Given the description of an element on the screen output the (x, y) to click on. 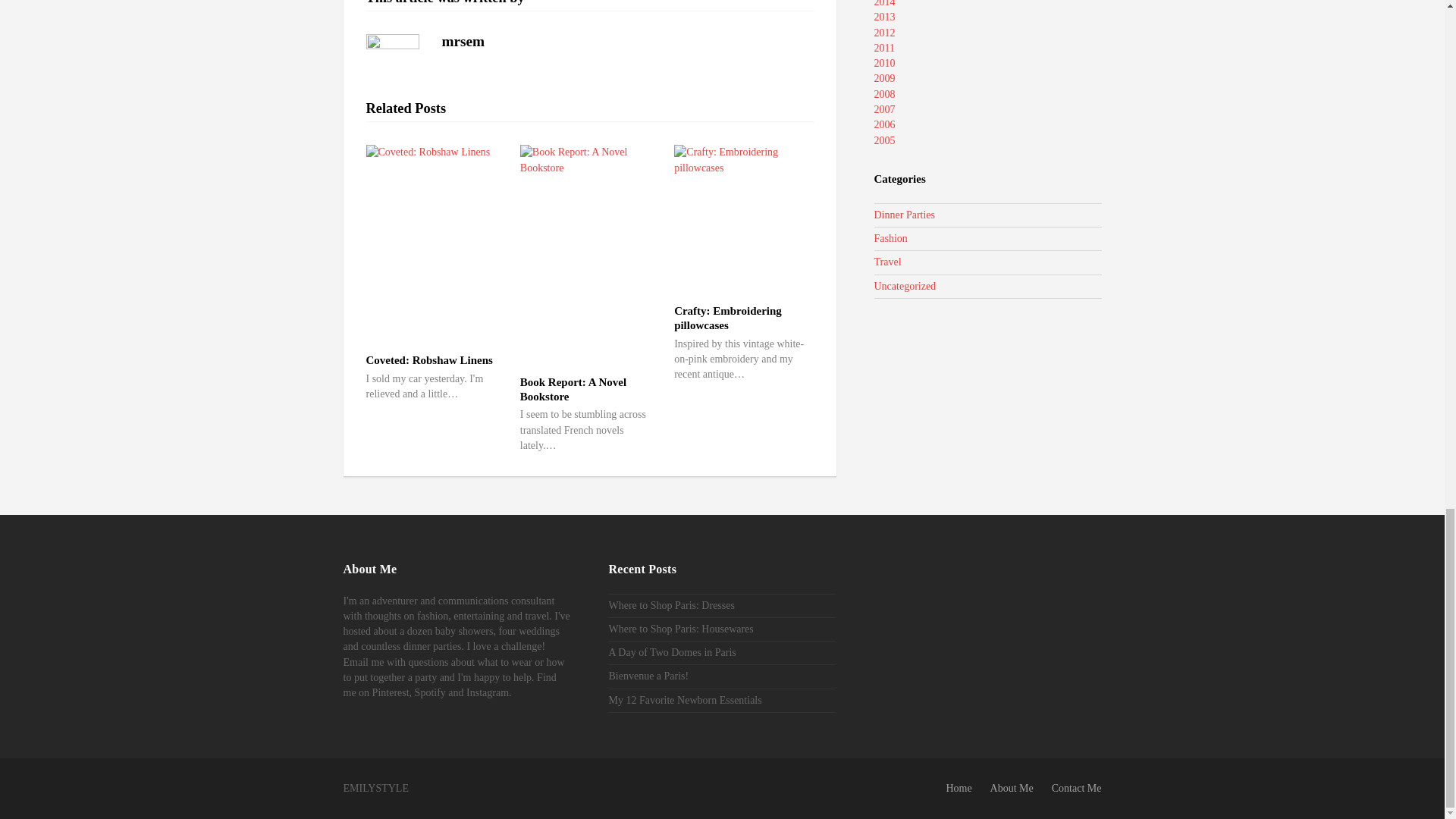
Book Report: A Novel Bookstore (572, 388)
Visit Author Page (462, 41)
Crafty: Embroidering pillowcases (727, 317)
Visit Author Page (392, 60)
mrsem (462, 41)
Coveted: Robshaw Linens (428, 359)
